Given the description of an element on the screen output the (x, y) to click on. 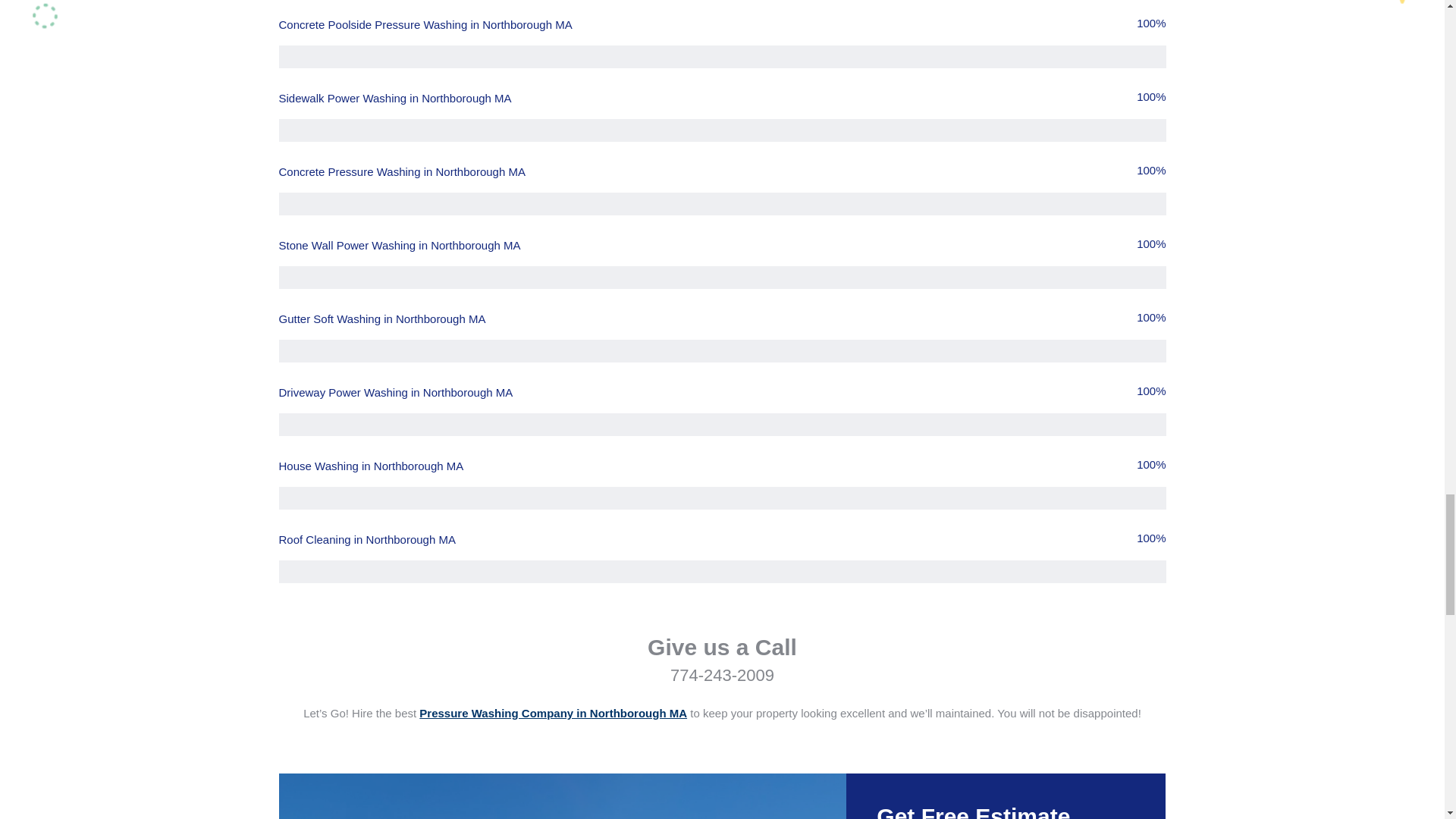
774-243-2009 (721, 674)
Pressure Washing Company in Northborough MA (553, 712)
Give us a Call (721, 647)
